Given the description of an element on the screen output the (x, y) to click on. 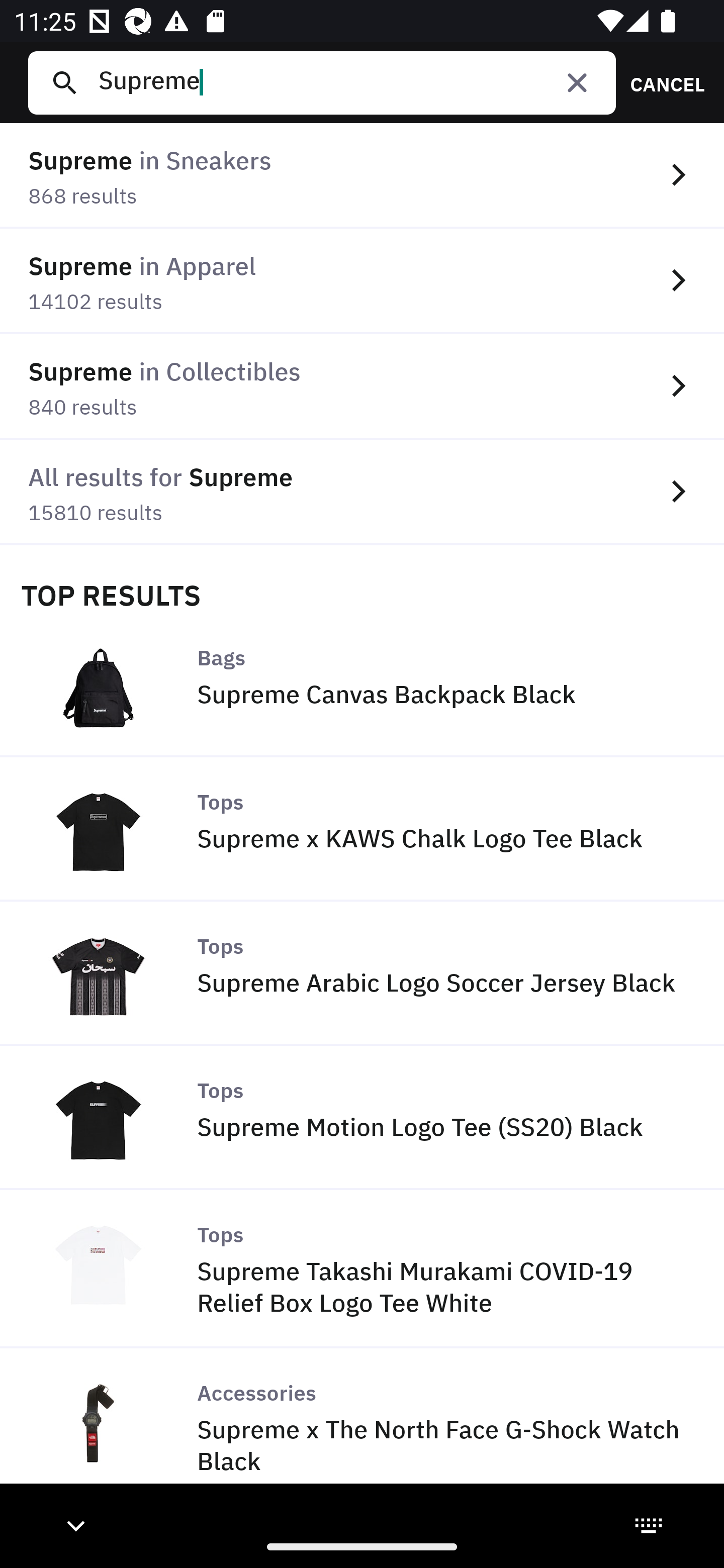
CANCEL (660, 82)
Supreme (349, 82)
 (577, 82)
Supreme  in Sneakers 868 results  (362, 175)
Supreme  in Apparel 14102 results  (362, 280)
Supreme  in Collectibles 840 results  (362, 386)
All results for  Supreme 15810 results  (362, 492)
Bags Supreme Canvas Backpack Black (362, 685)
Tops Supreme x KAWS Chalk Logo Tee Black (362, 829)
Tops Supreme Arabic Logo Soccer Jersey Black (362, 973)
Tops Supreme Motion Logo Tee (SS20) Black (362, 1117)
